Given the description of an element on the screen output the (x, y) to click on. 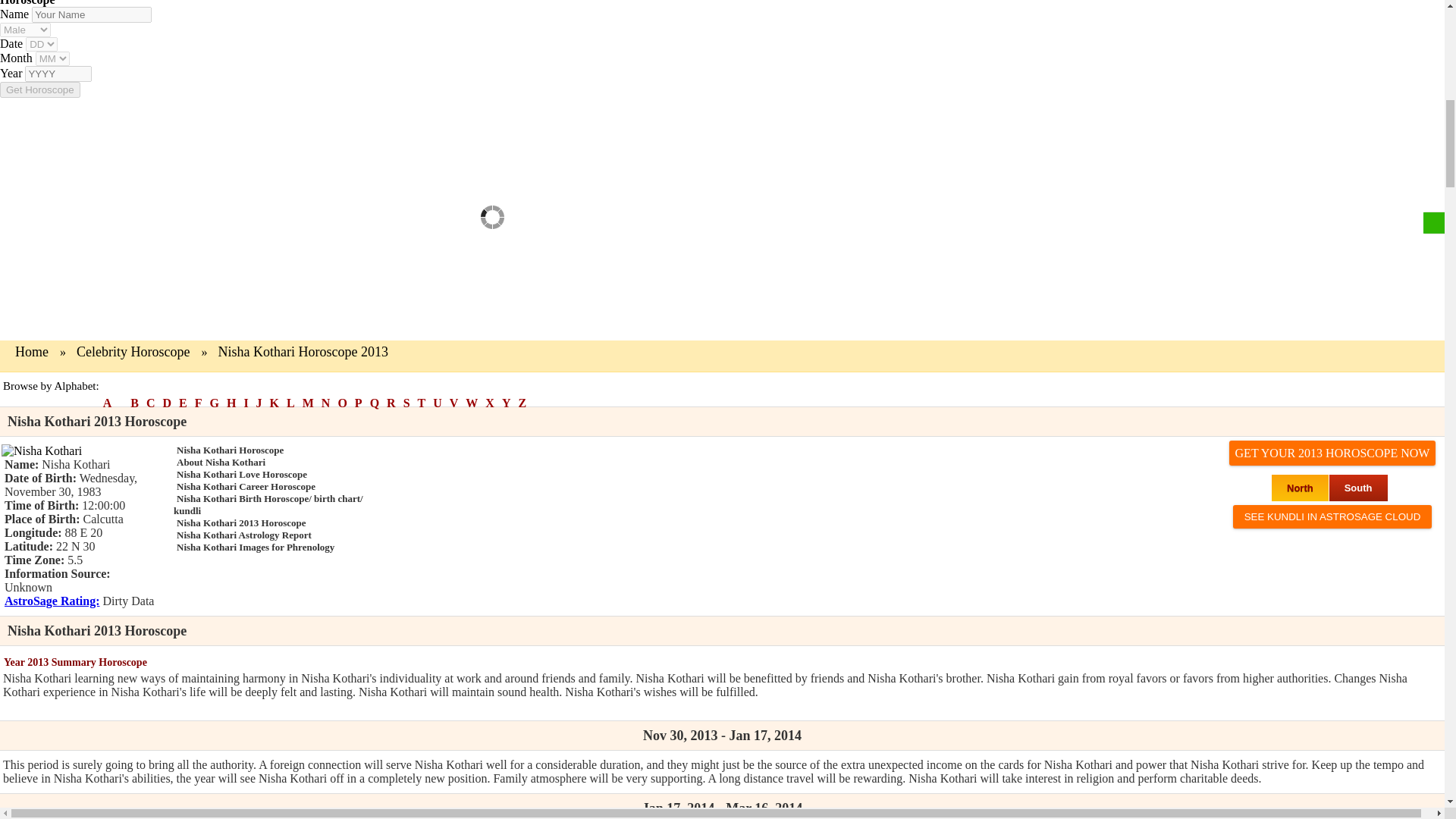
See kundli in AstroSage Cloud (1332, 516)
